Given the description of an element on the screen output the (x, y) to click on. 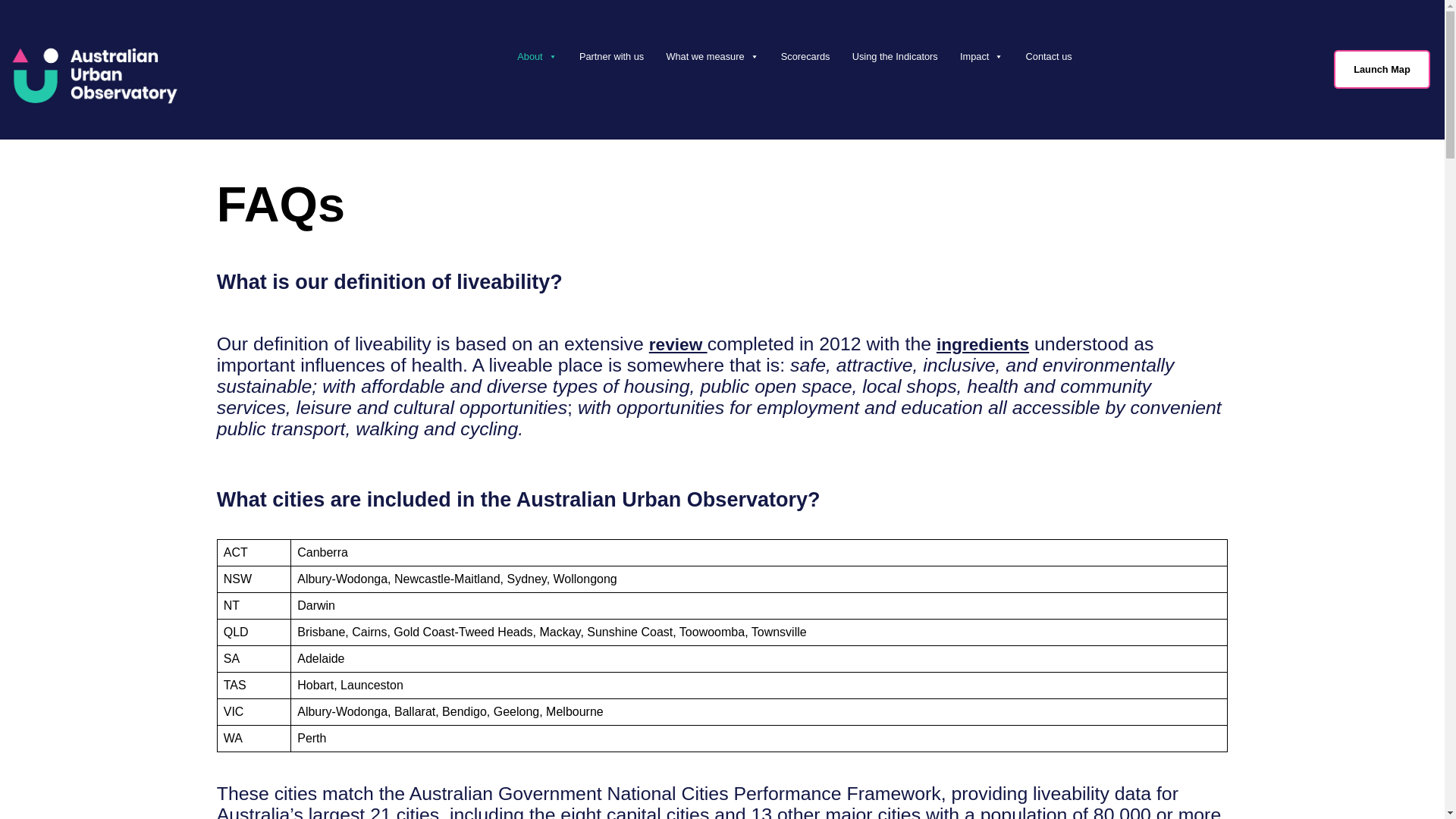
Partner with us (615, 56)
What we measure (715, 56)
About (540, 56)
ingredients (982, 343)
Contact us (1051, 56)
Scorecards (808, 56)
Launch Map (1381, 68)
Using the Indicators (898, 56)
Impact (984, 56)
review (678, 343)
